Given the description of an element on the screen output the (x, y) to click on. 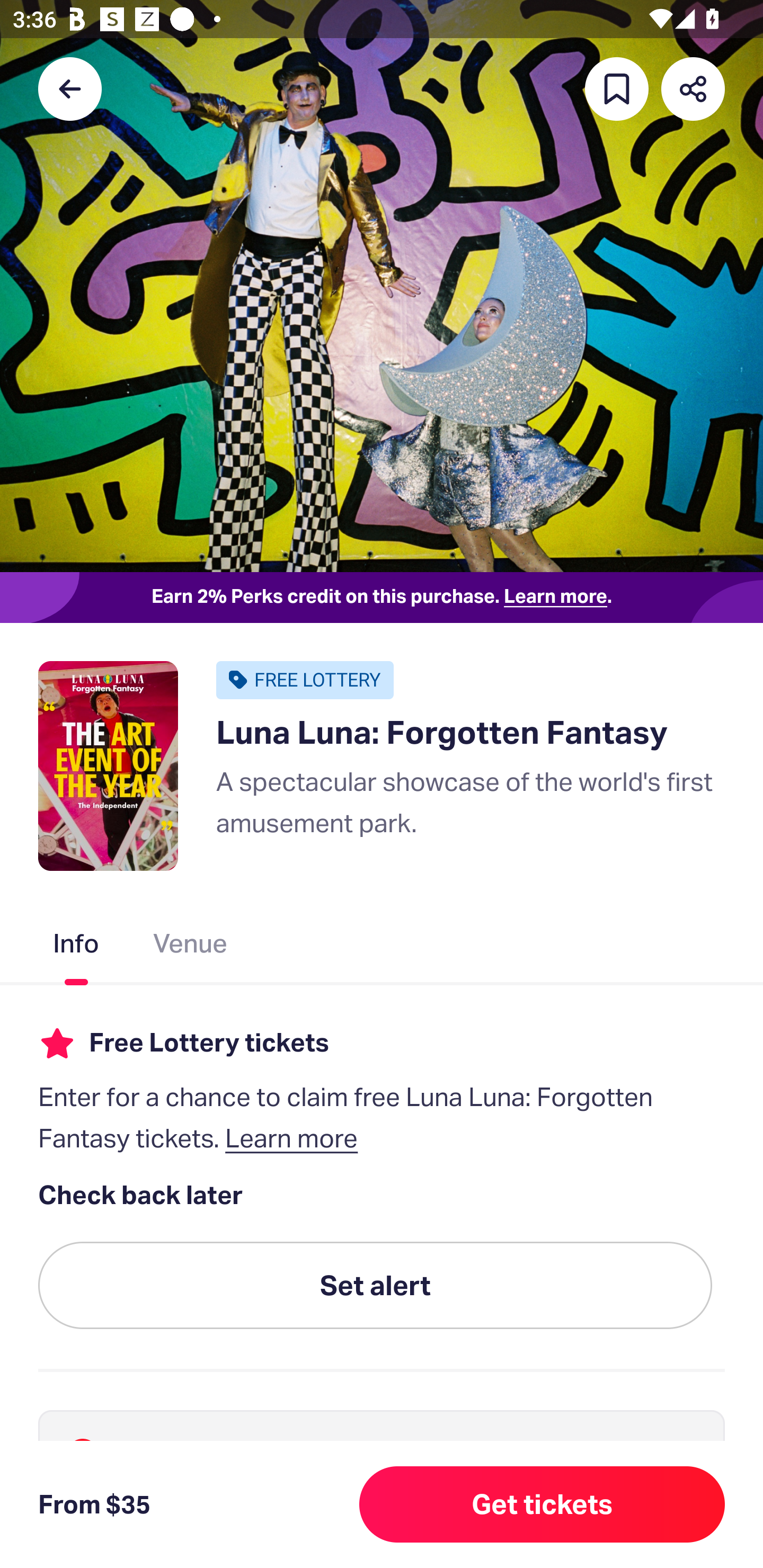
Earn 2% Perks credit on this purchase. Learn more. (381, 597)
Venue (190, 946)
Set alert (374, 1286)
Get tickets (541, 1504)
